Given the description of an element on the screen output the (x, y) to click on. 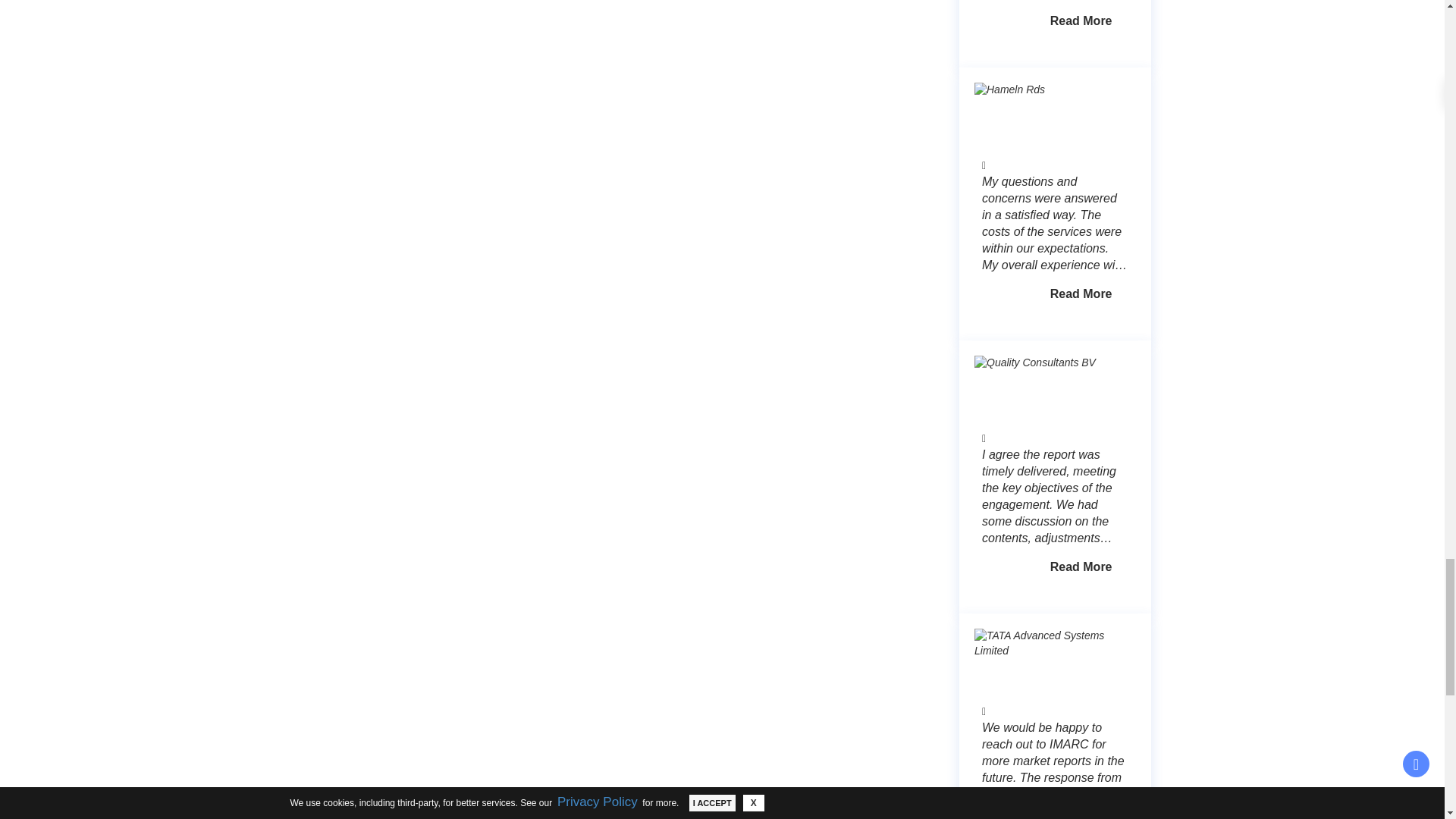
Know more (1081, 294)
Know more (1081, 567)
Know more (1081, 21)
